Given the description of an element on the screen output the (x, y) to click on. 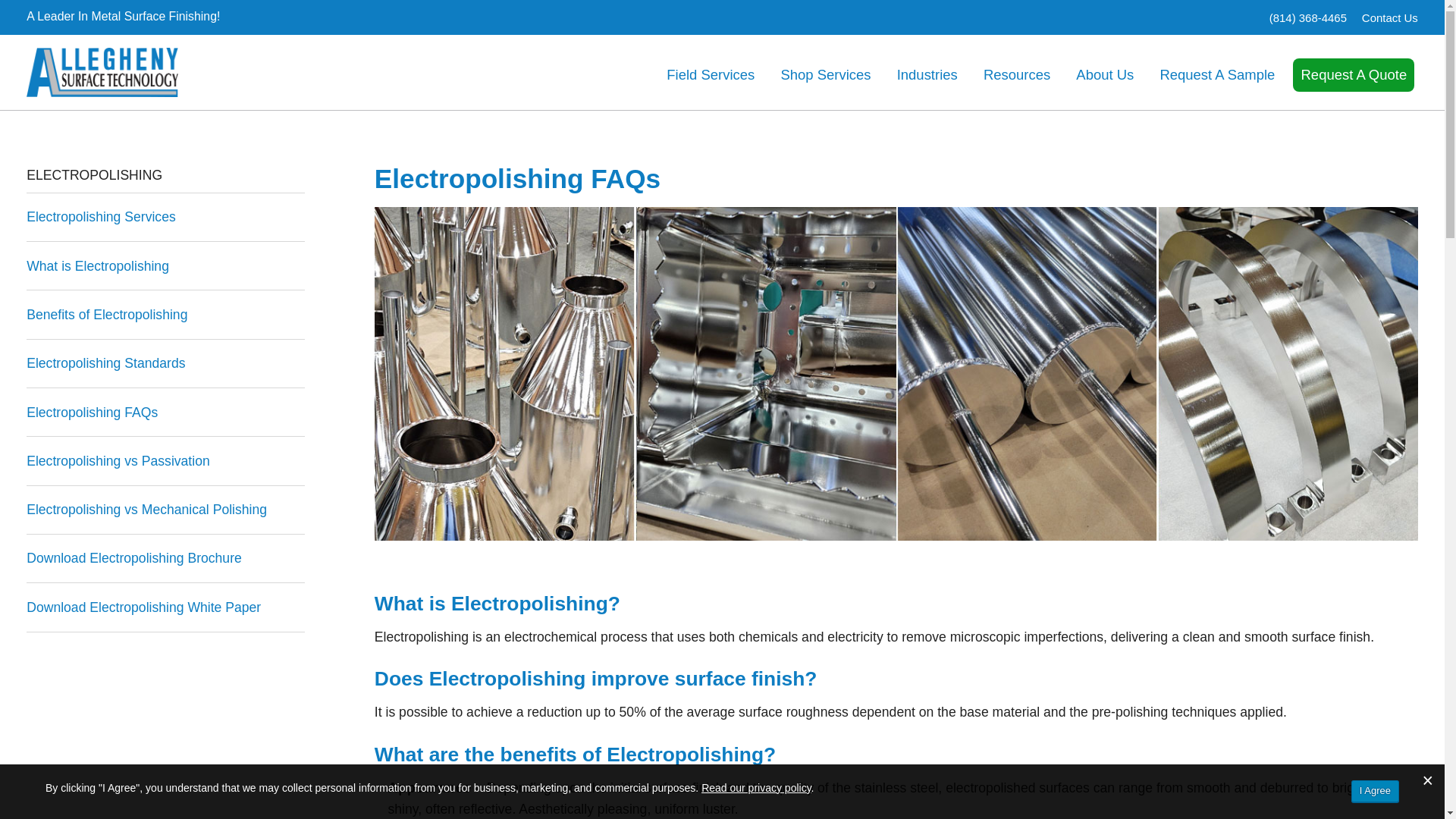
Field Services (710, 74)
Shop Services (826, 74)
Contact Us (1389, 18)
